Given the description of an element on the screen output the (x, y) to click on. 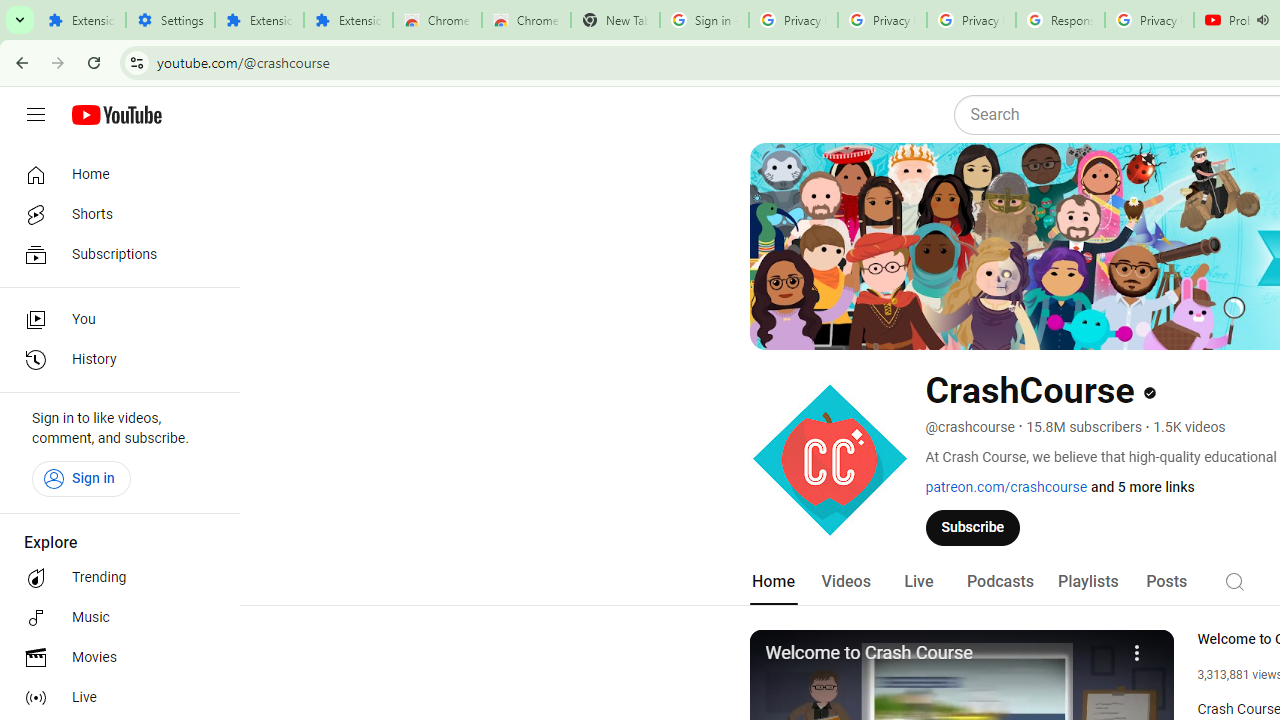
Extensions (81, 20)
